Given the description of an element on the screen output the (x, y) to click on. 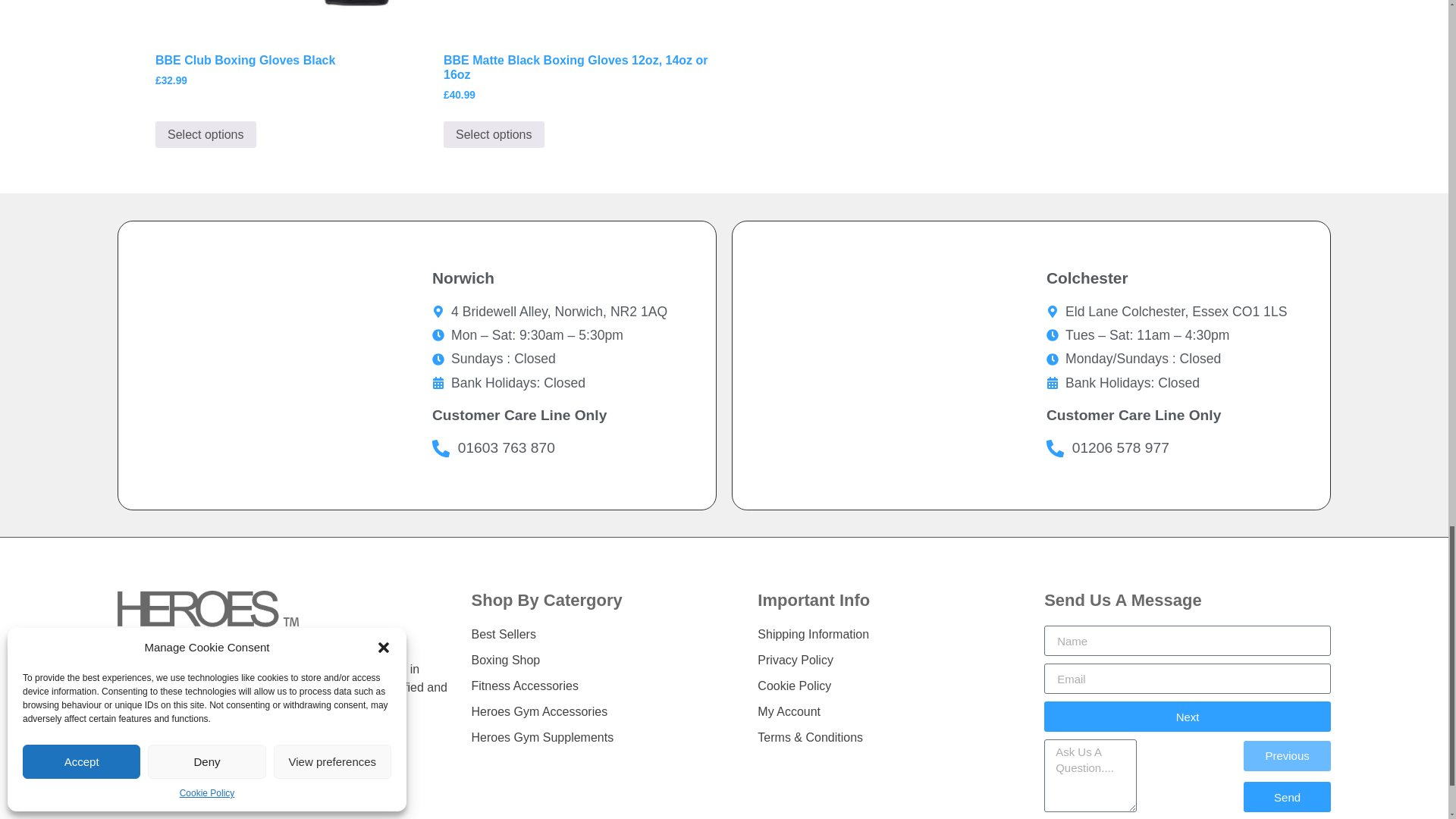
heroes fitness, Colchester (881, 365)
heroes fitness, Norwich (266, 365)
